Given the description of an element on the screen output the (x, y) to click on. 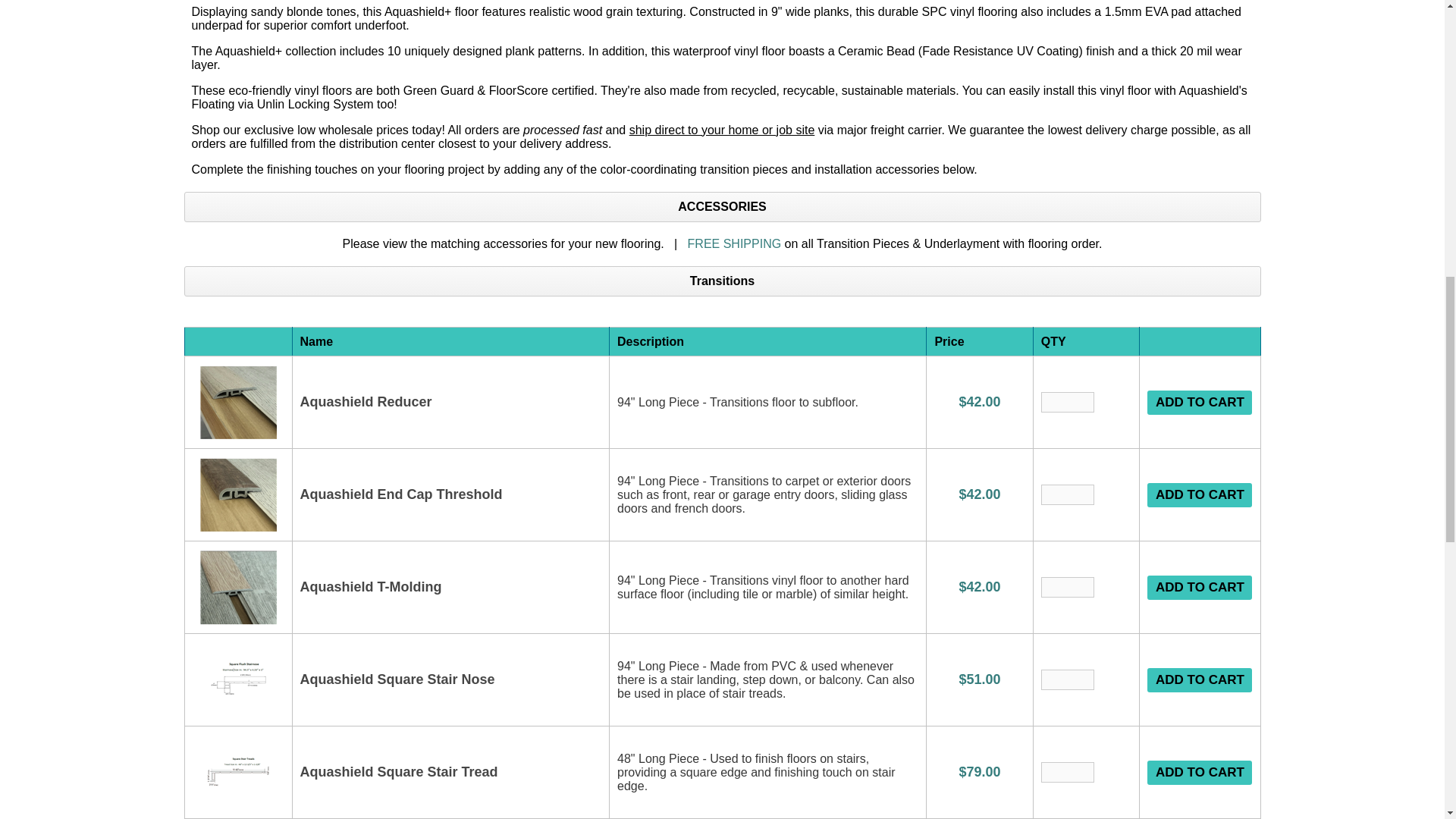
ADD TO CART (1199, 494)
ADD TO CART (1199, 680)
ADD TO CART (1199, 587)
ADD TO CART (1199, 402)
ADD TO CART (1199, 772)
